Given the description of an element on the screen output the (x, y) to click on. 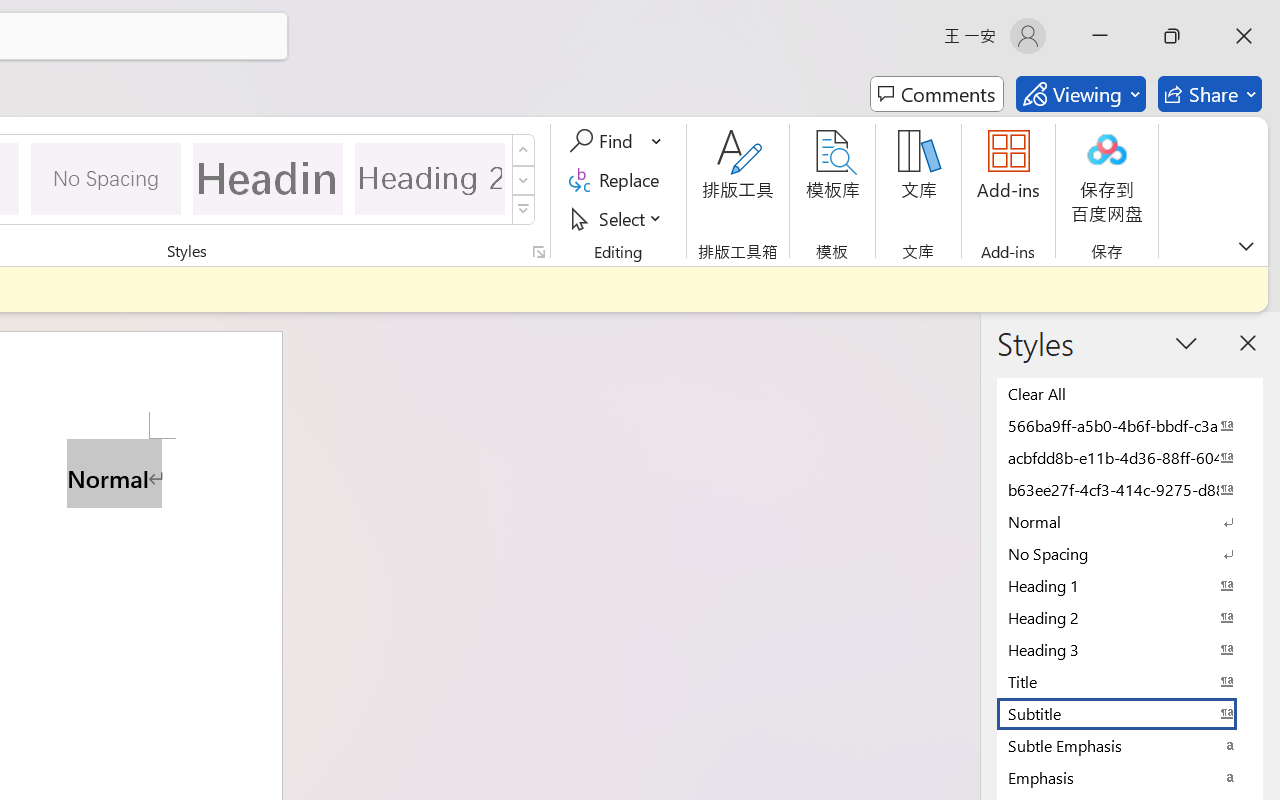
Task Pane Options (1186, 343)
Mode (1080, 94)
Heading 2 (429, 178)
Normal (1130, 521)
Row up (523, 150)
